Given the description of an element on the screen output the (x, y) to click on. 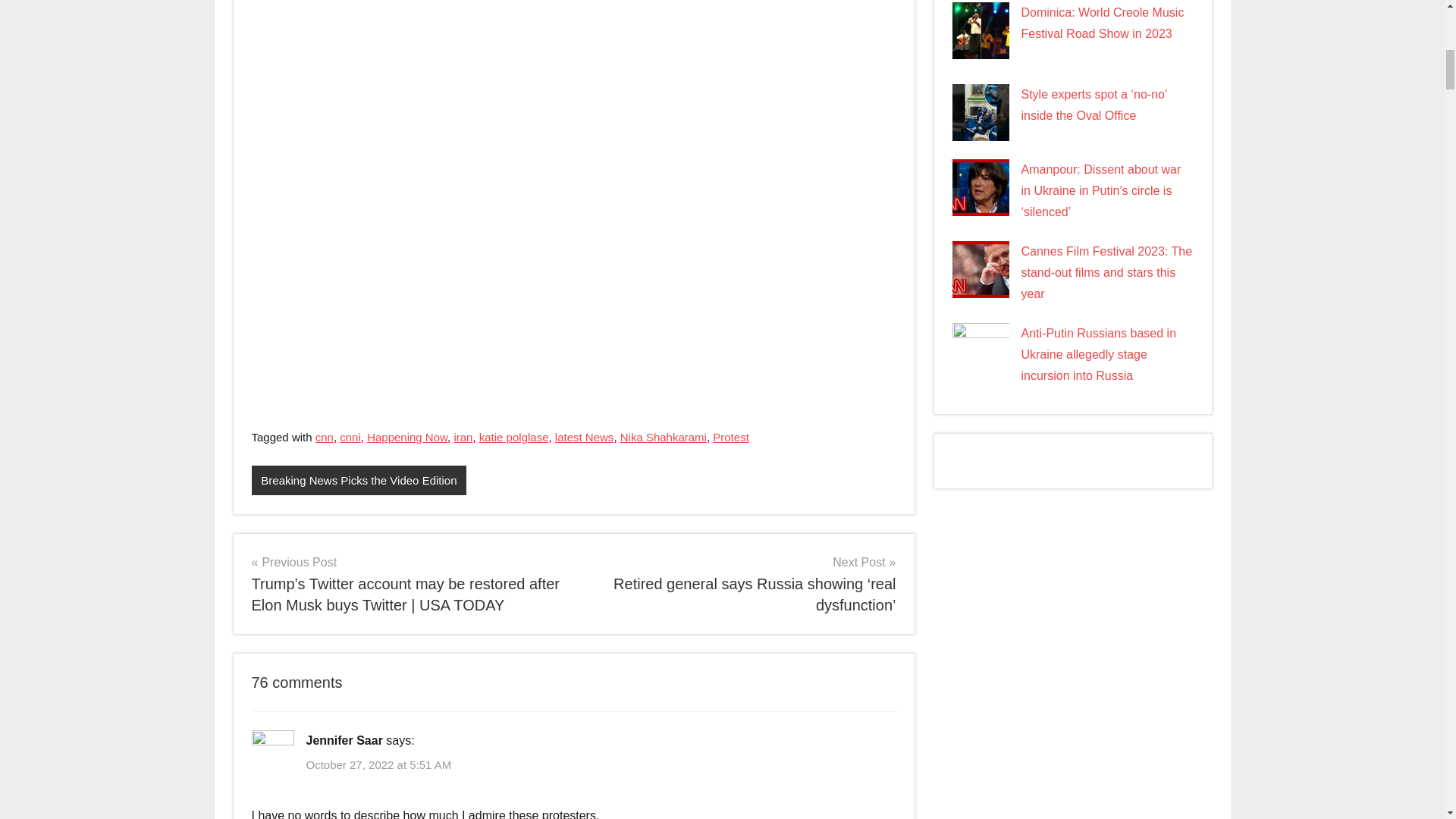
Nika Shahkarami (663, 436)
Protest (731, 436)
cnn (324, 436)
latest News (584, 436)
katie polglase (513, 436)
Dominica: World Creole Music Festival Road Show in 2023 (1101, 22)
Breaking News Picks the Video Edition (359, 480)
Happening Now (406, 436)
